Given the description of an element on the screen output the (x, y) to click on. 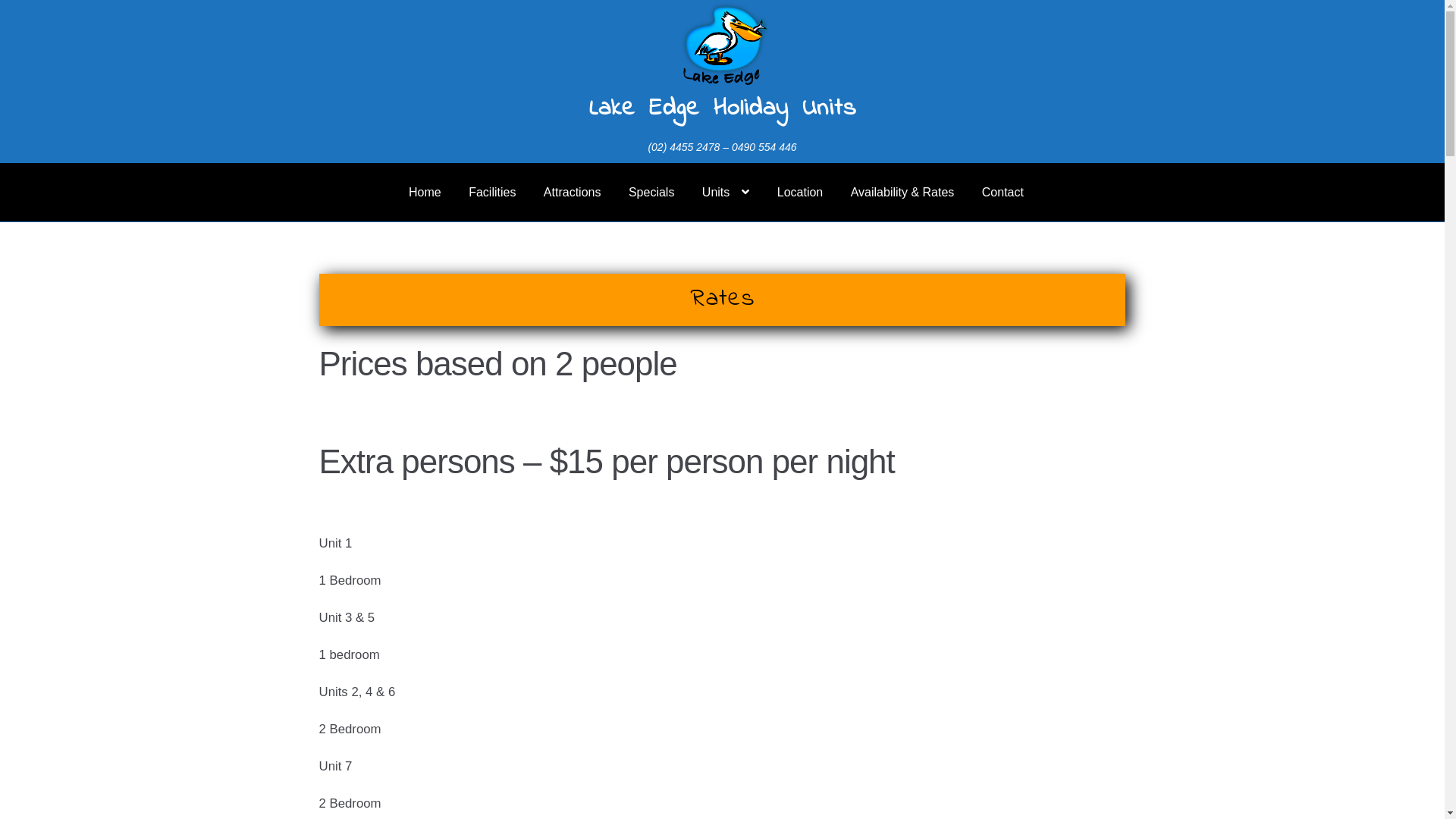
Contact Element type: text (1002, 192)
Lake Edge Holiday Units Element type: text (721, 108)
Home Element type: text (424, 192)
Facilities Element type: text (491, 192)
Units Element type: text (725, 192)
Attractions Element type: text (572, 192)
Specials Element type: text (651, 192)
Location Element type: text (800, 192)
Availability & Rates Element type: text (902, 192)
